Given the description of an element on the screen output the (x, y) to click on. 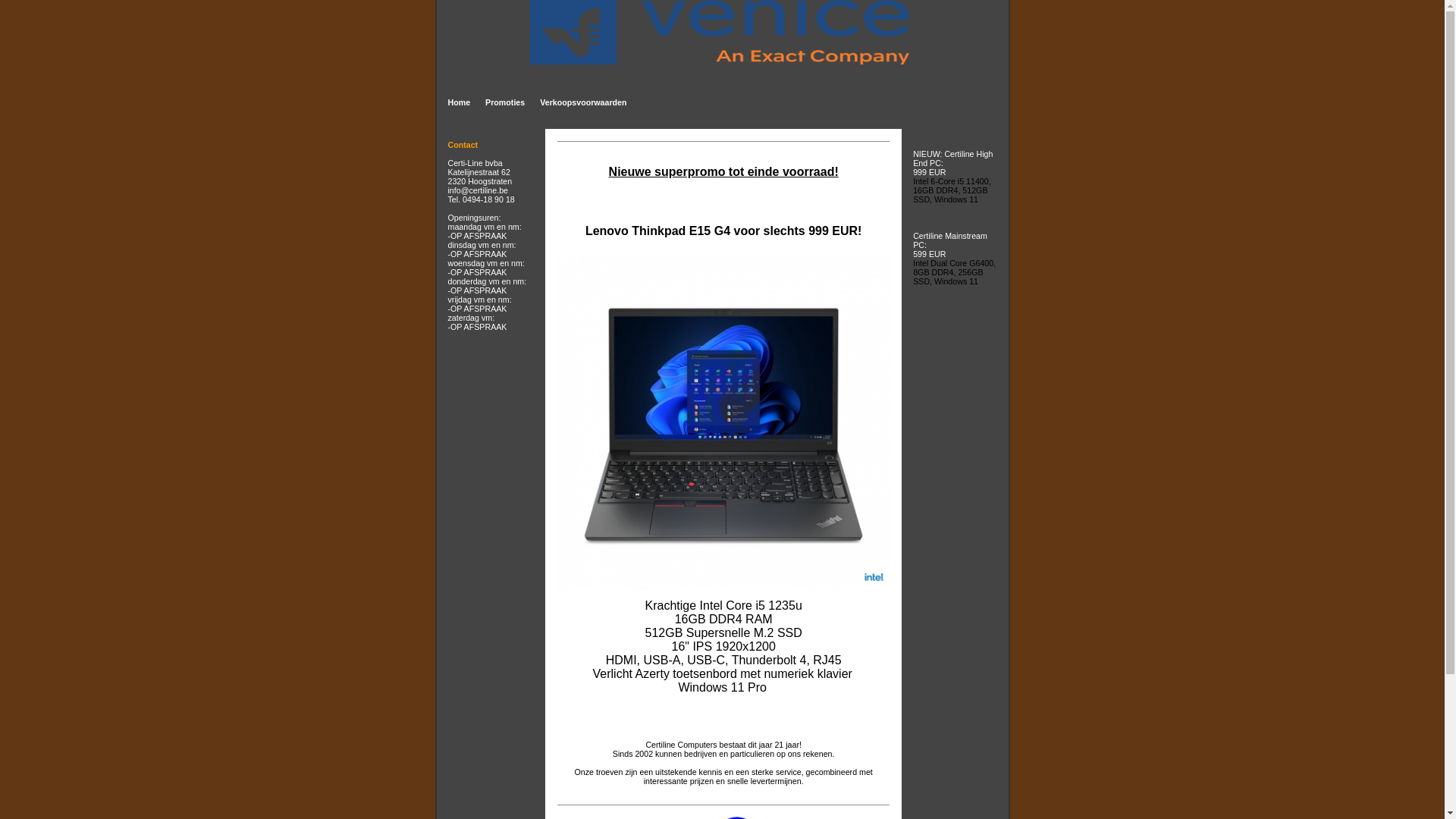
info@certiline.be Element type: text (477, 189)
Verkoopsvoorwaarden Element type: text (582, 101)
Home Element type: text (458, 101)
Promoties Element type: text (504, 101)
